Given the description of an element on the screen output the (x, y) to click on. 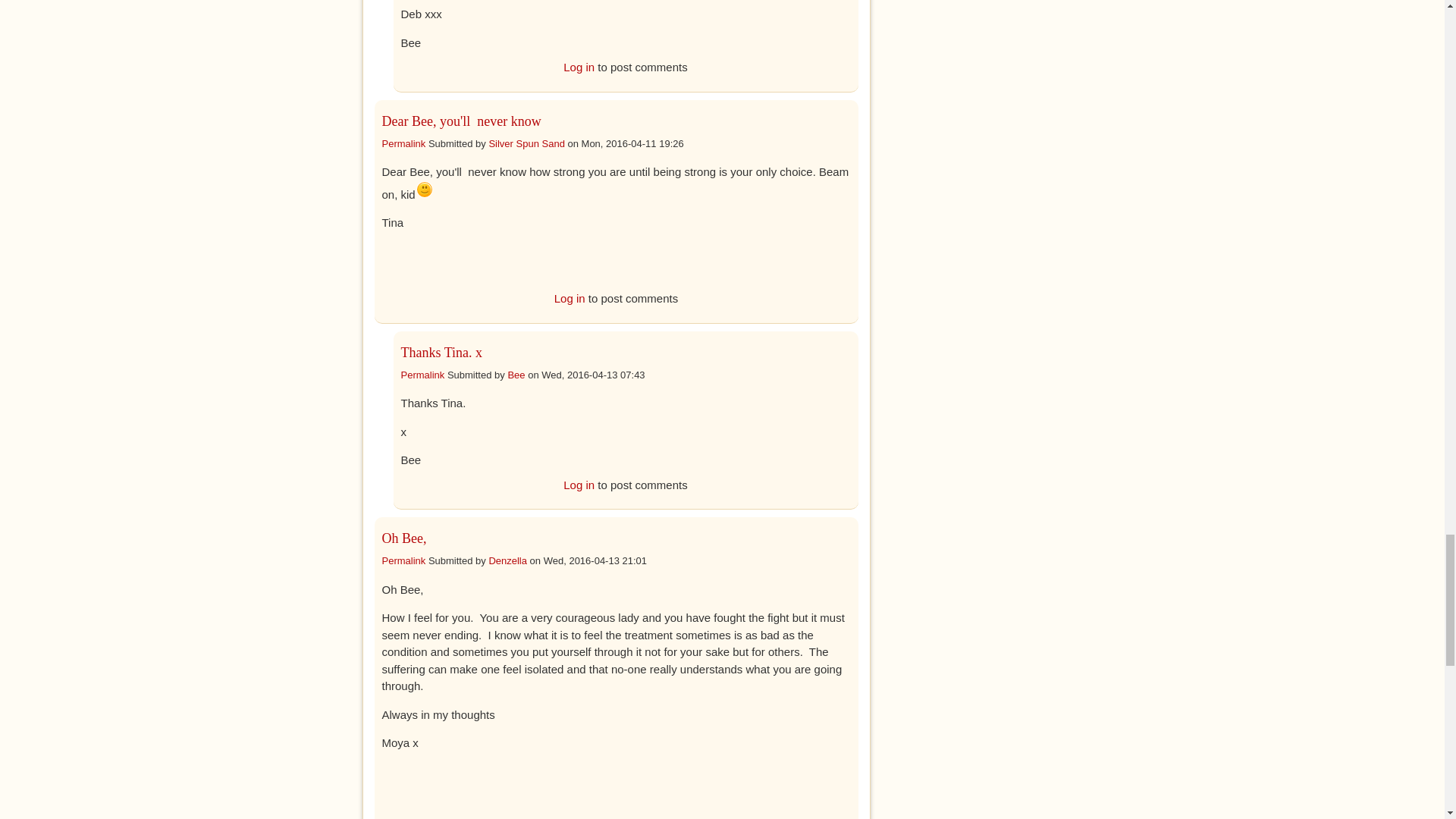
View user profile. (515, 374)
smiley (423, 189)
View user profile. (525, 143)
View user profile. (507, 560)
